Given the description of an element on the screen output the (x, y) to click on. 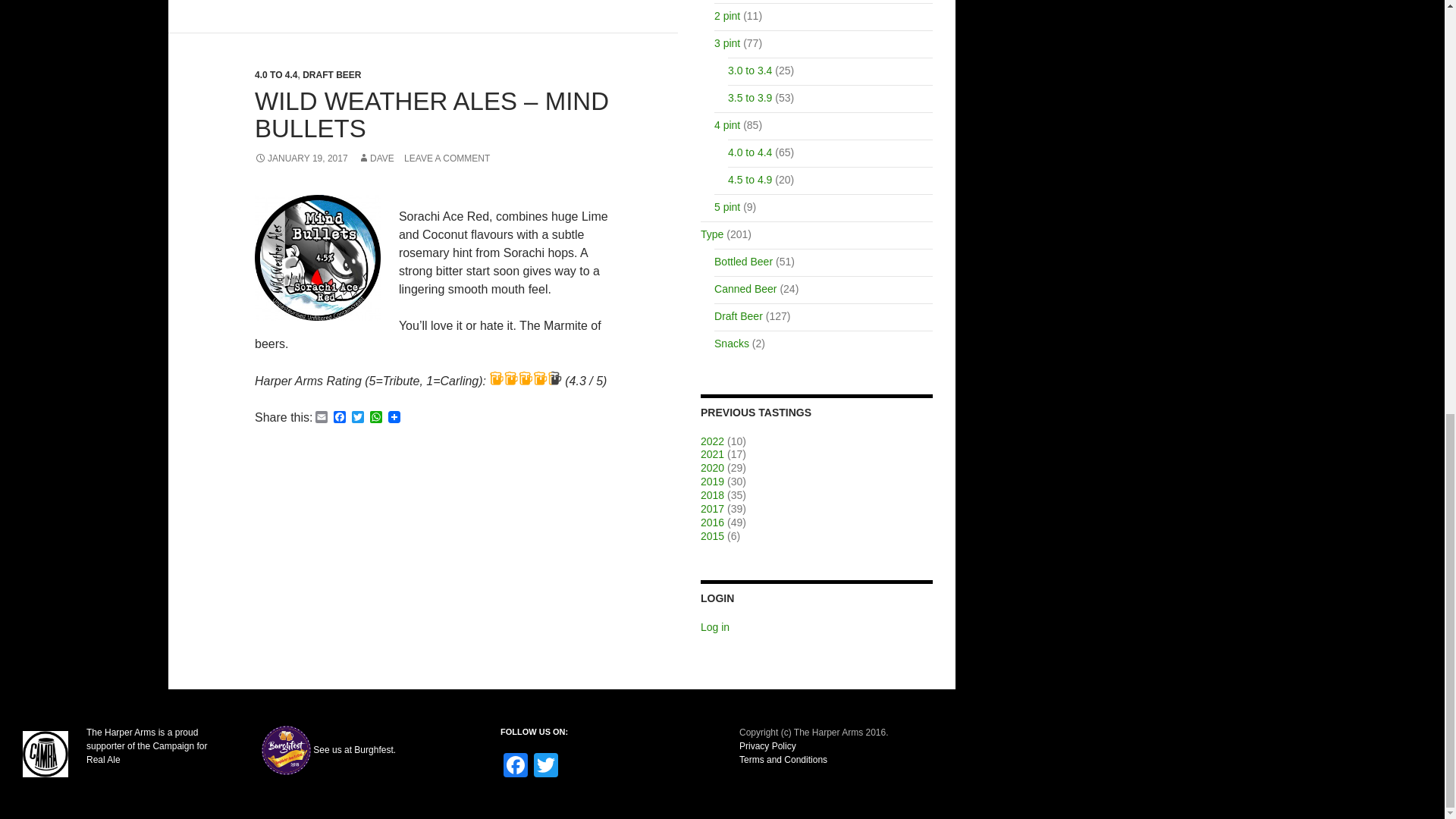
WhatsApp (375, 418)
DAVE (376, 158)
JANUARY 19, 2017 (300, 158)
Twitter (357, 418)
4.0 TO 4.4 (275, 74)
Twitter (545, 766)
Email (321, 418)
LEAVE A COMMENT (446, 158)
DRAFT BEER (331, 74)
Facebook (515, 766)
